Given the description of an element on the screen output the (x, y) to click on. 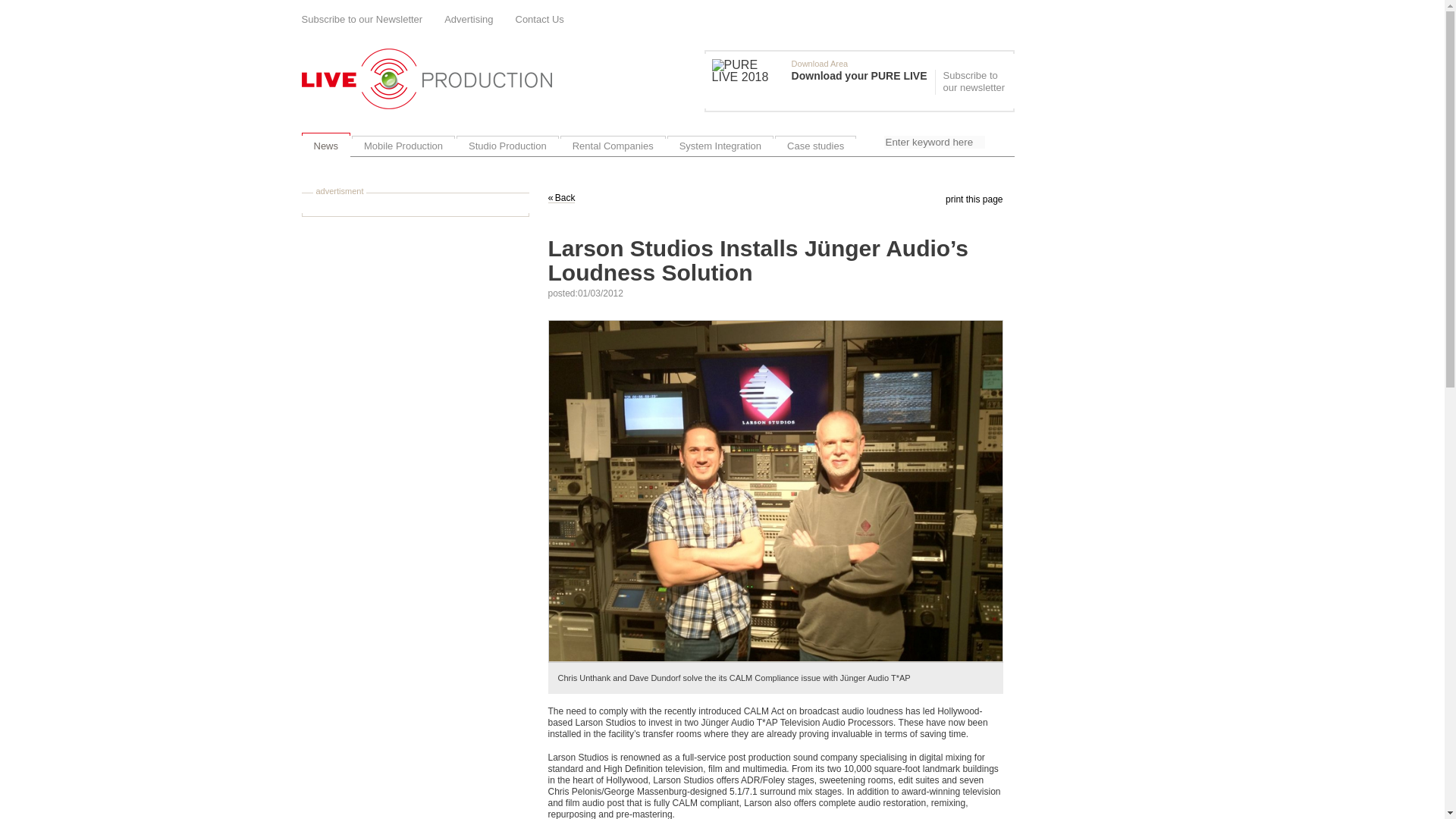
PURE LIVE 2018 (747, 70)
Subscribe to our Newsletter (362, 19)
Advertising (468, 19)
Go (998, 144)
Contact Us (539, 19)
Subscribe to our newsletter (972, 82)
RSS (1008, 17)
Publication (822, 80)
